Given the description of an element on the screen output the (x, y) to click on. 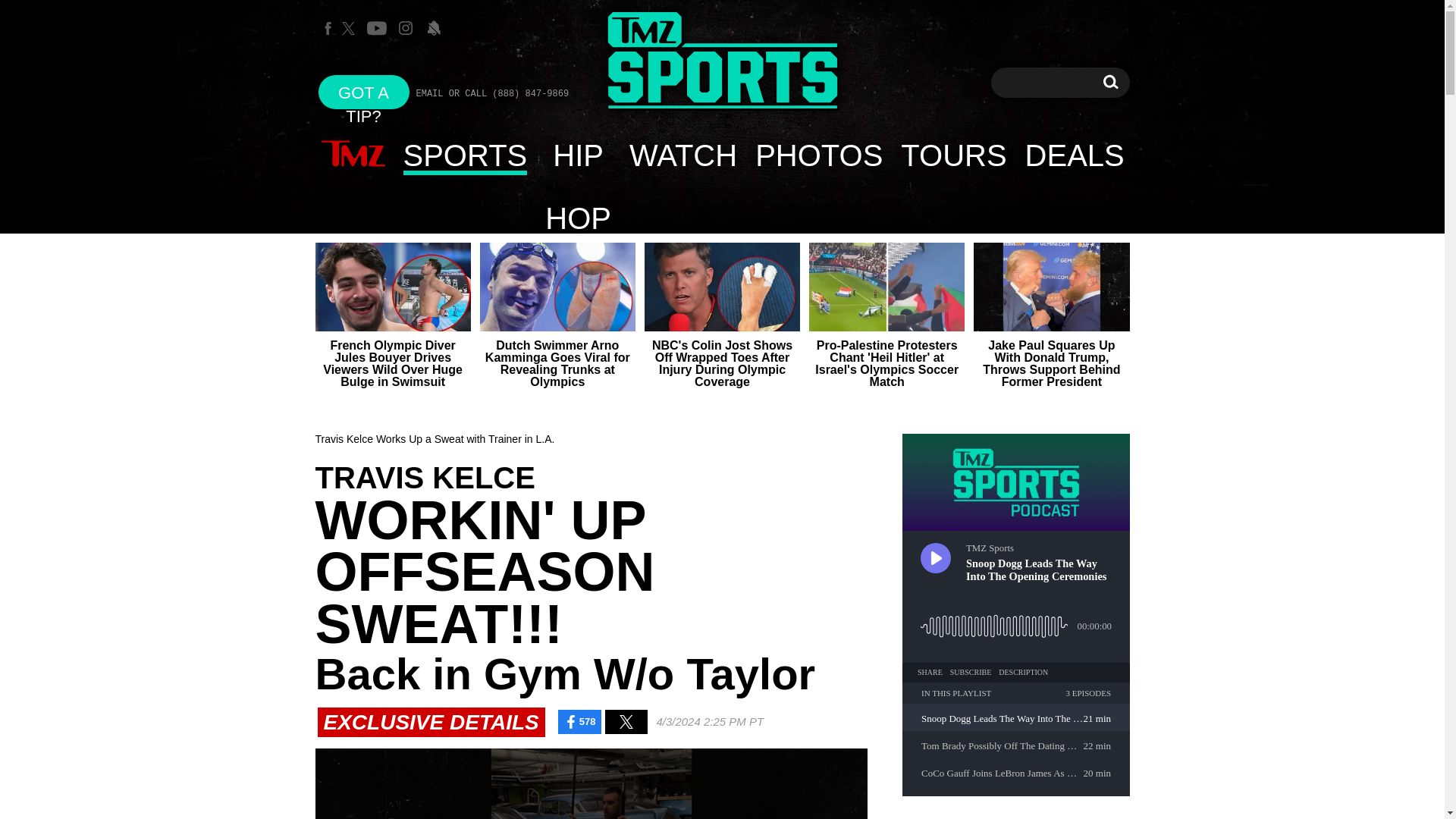
Search (1110, 81)
DEALS (1075, 154)
SPORTS (465, 154)
TOURS (952, 154)
HIP HOP (1110, 82)
WATCH (577, 154)
TMZ Sports (682, 154)
GOT A TIP? (722, 60)
TMZ Sports (363, 91)
PHOTOS (722, 62)
NEWS (818, 154)
